Given the description of an element on the screen output the (x, y) to click on. 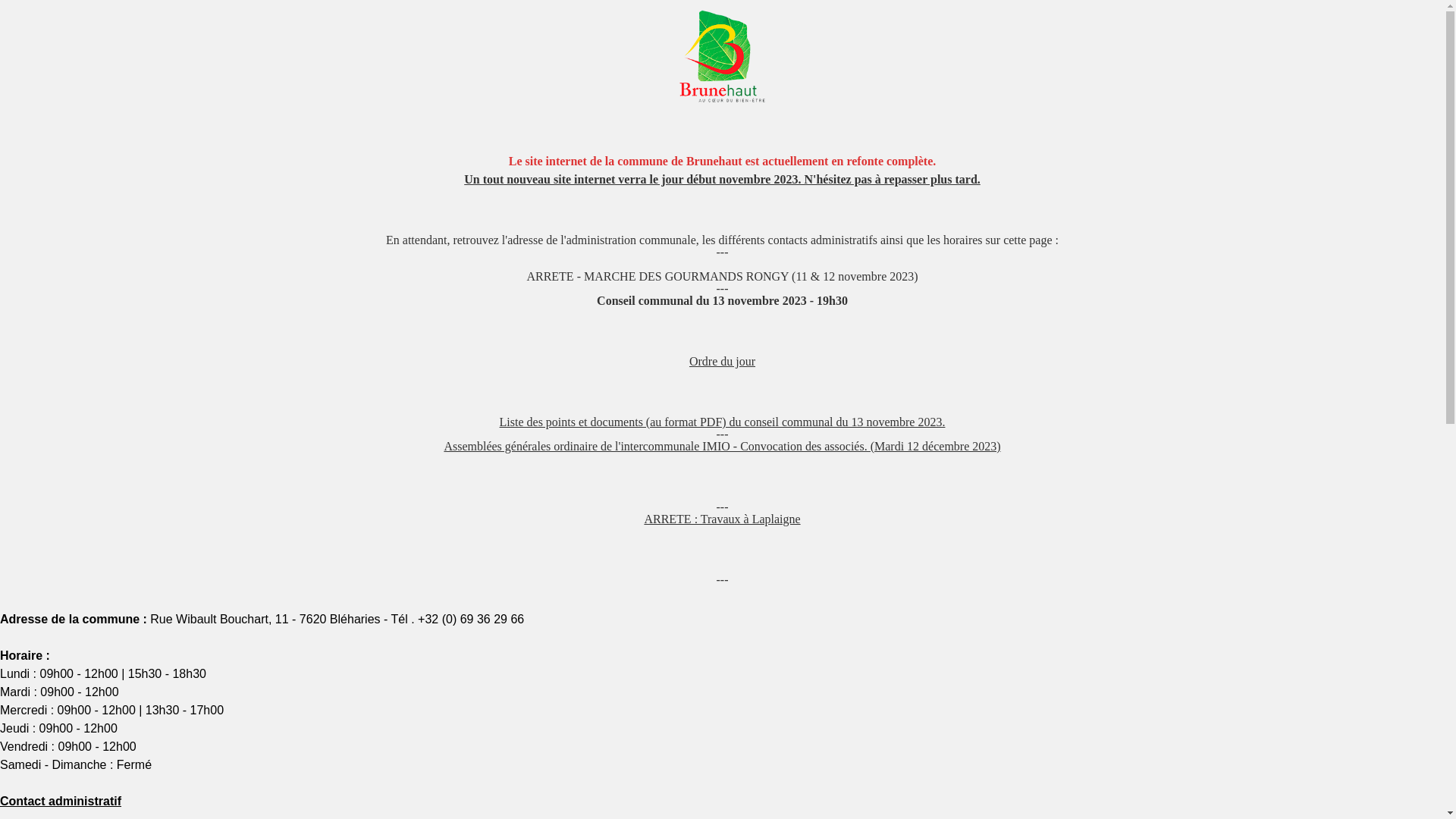
Ordre du jour Element type: text (722, 360)
ARRETE - MARCHE DES GOURMANDS RONGY (11 & 12 novembre 2023) Element type: text (721, 275)
